Given the description of an element on the screen output the (x, y) to click on. 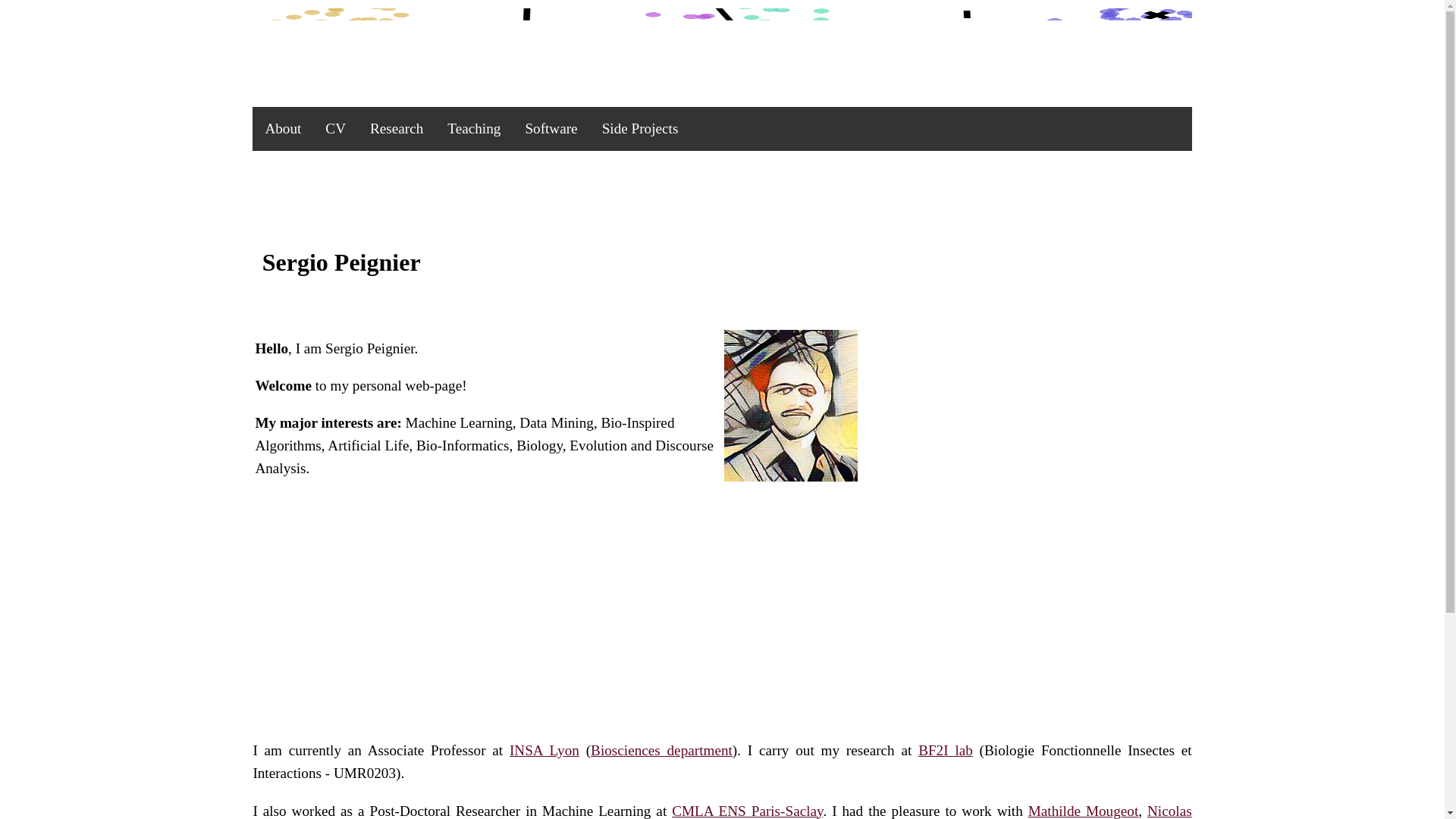
CMLA ENS Paris-Saclay (746, 811)
Software (550, 128)
Research (396, 128)
CV (335, 128)
INSA Lyon (544, 750)
About (282, 128)
Teaching (473, 128)
Biosciences department (661, 750)
Side Projects (639, 128)
